Given the description of an element on the screen output the (x, y) to click on. 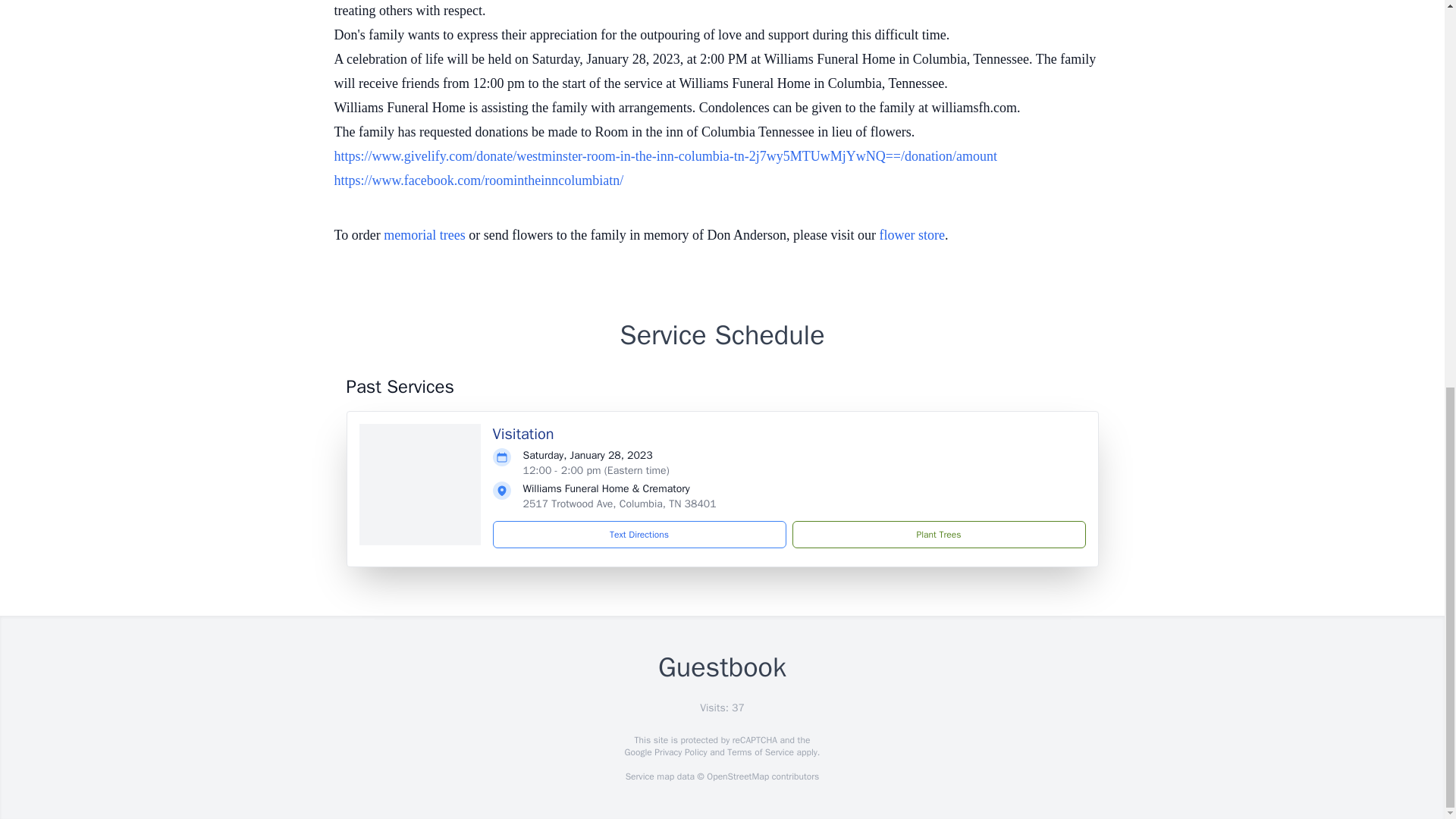
2517 Trotwood Ave, Columbia, TN 38401 (619, 503)
Click to open in a new window or tab (478, 180)
Privacy Policy (679, 752)
Text Directions (639, 533)
Click to open in a new window or tab (664, 155)
flower store (911, 234)
Terms of Service (759, 752)
Plant Trees (938, 533)
memorial trees (424, 234)
OpenStreetMap (737, 776)
